Given the description of an element on the screen output the (x, y) to click on. 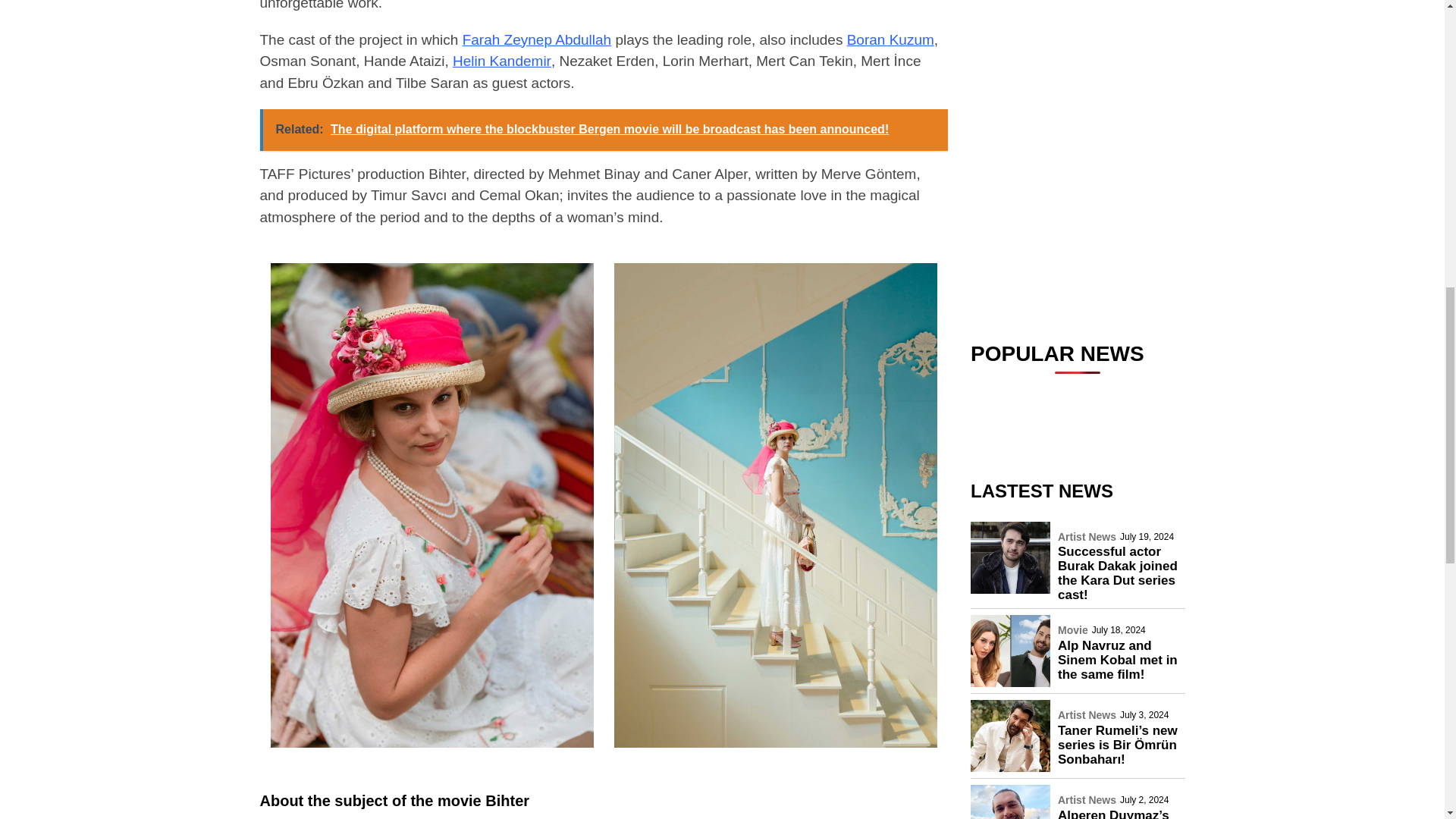
Boran Kuzum (890, 40)
Helin Kandemir (501, 61)
Farah Zeynep Abdullah (537, 40)
